Given the description of an element on the screen output the (x, y) to click on. 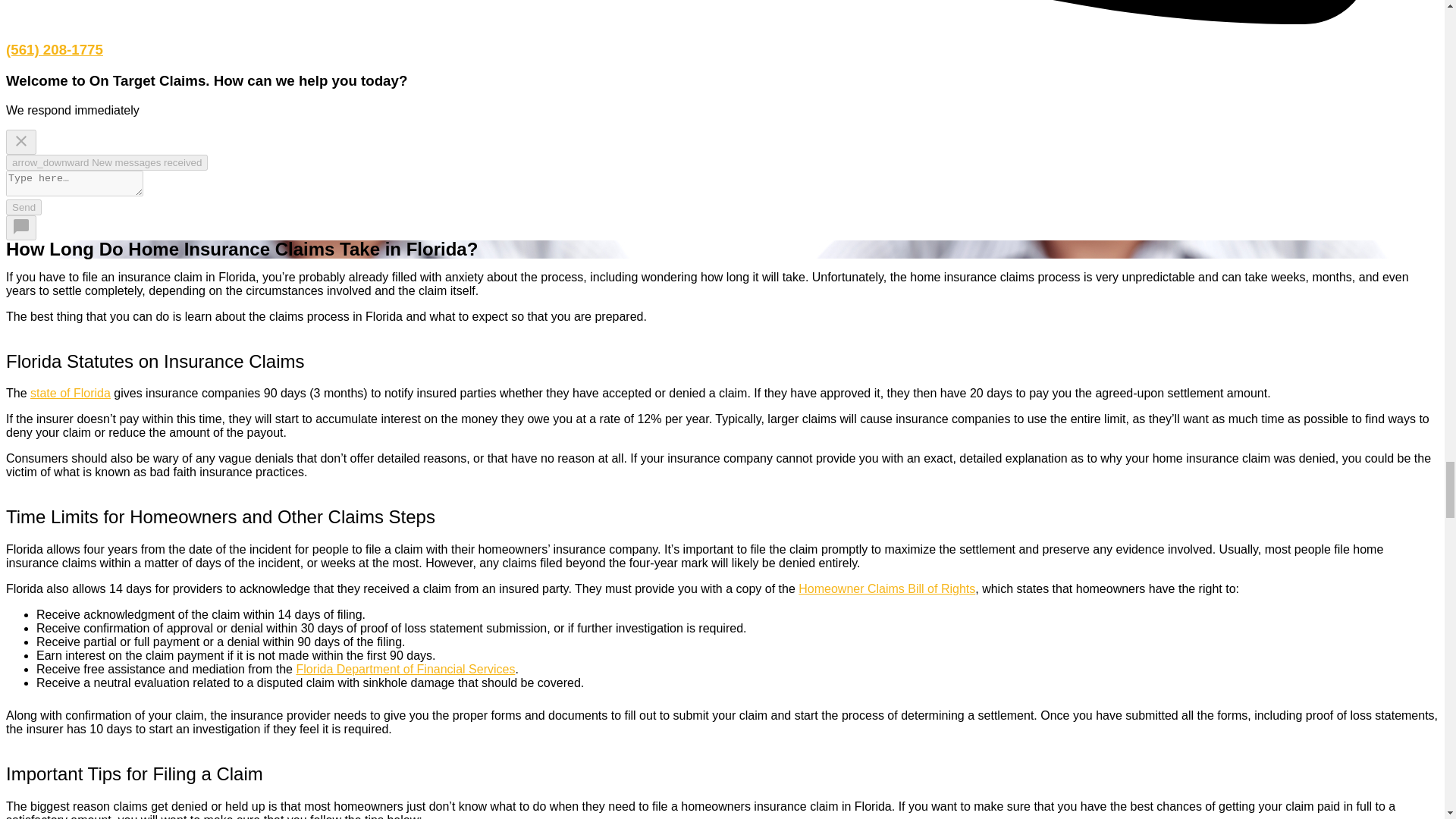
state of Florida (70, 392)
Florida Department of Financial Services (405, 668)
Homeowner Claims Bill of Rights (886, 588)
